Given the description of an element on the screen output the (x, y) to click on. 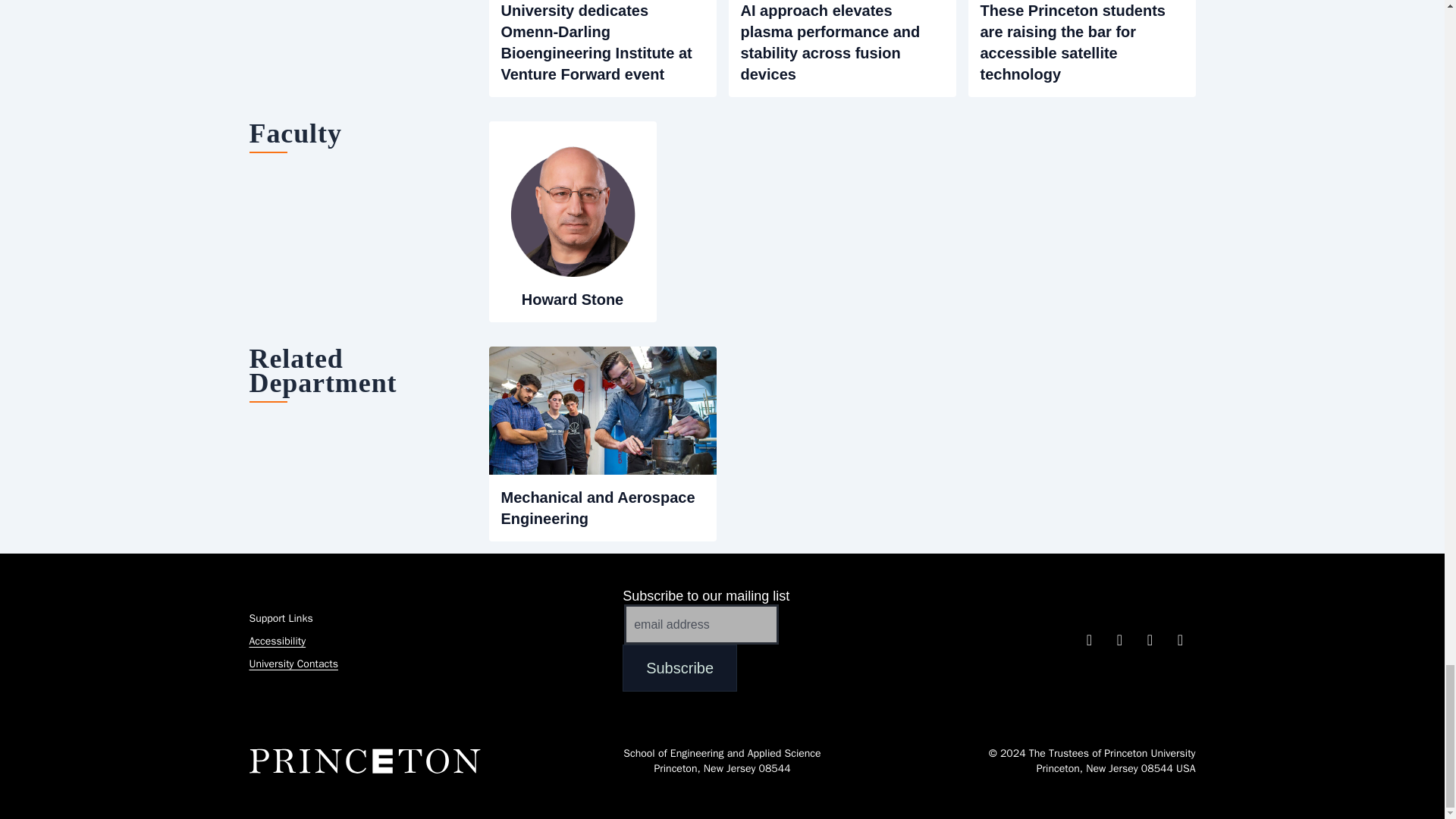
Subscribe (679, 667)
